Given the description of an element on the screen output the (x, y) to click on. 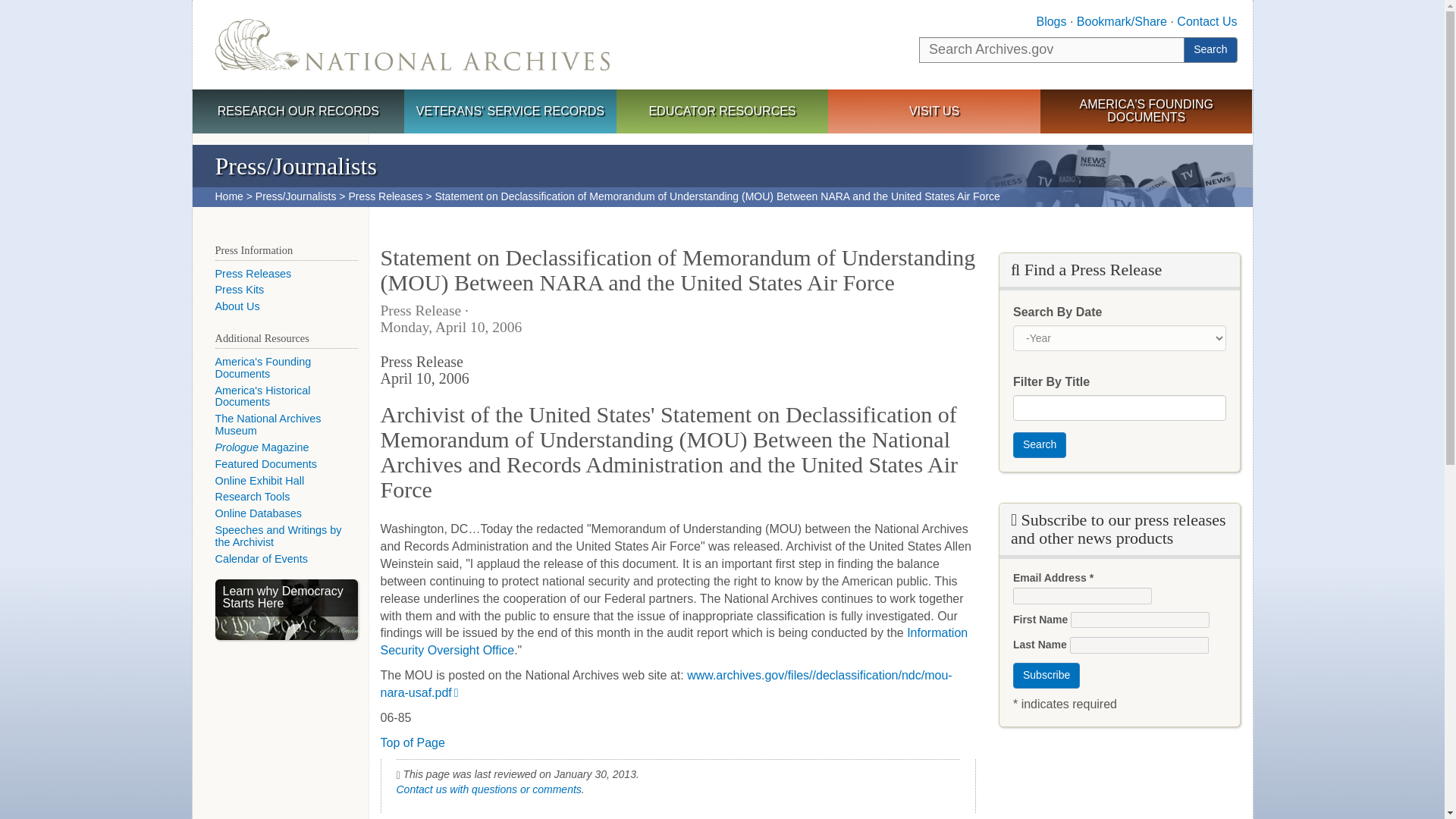
The National Archives Museum (268, 424)
Featured Documents (266, 463)
Home (229, 196)
Press Releases (253, 273)
Online Exhibit Hall (259, 480)
Blogs (1050, 21)
Learn why Democracy Starts Here (286, 609)
